Given the description of an element on the screen output the (x, y) to click on. 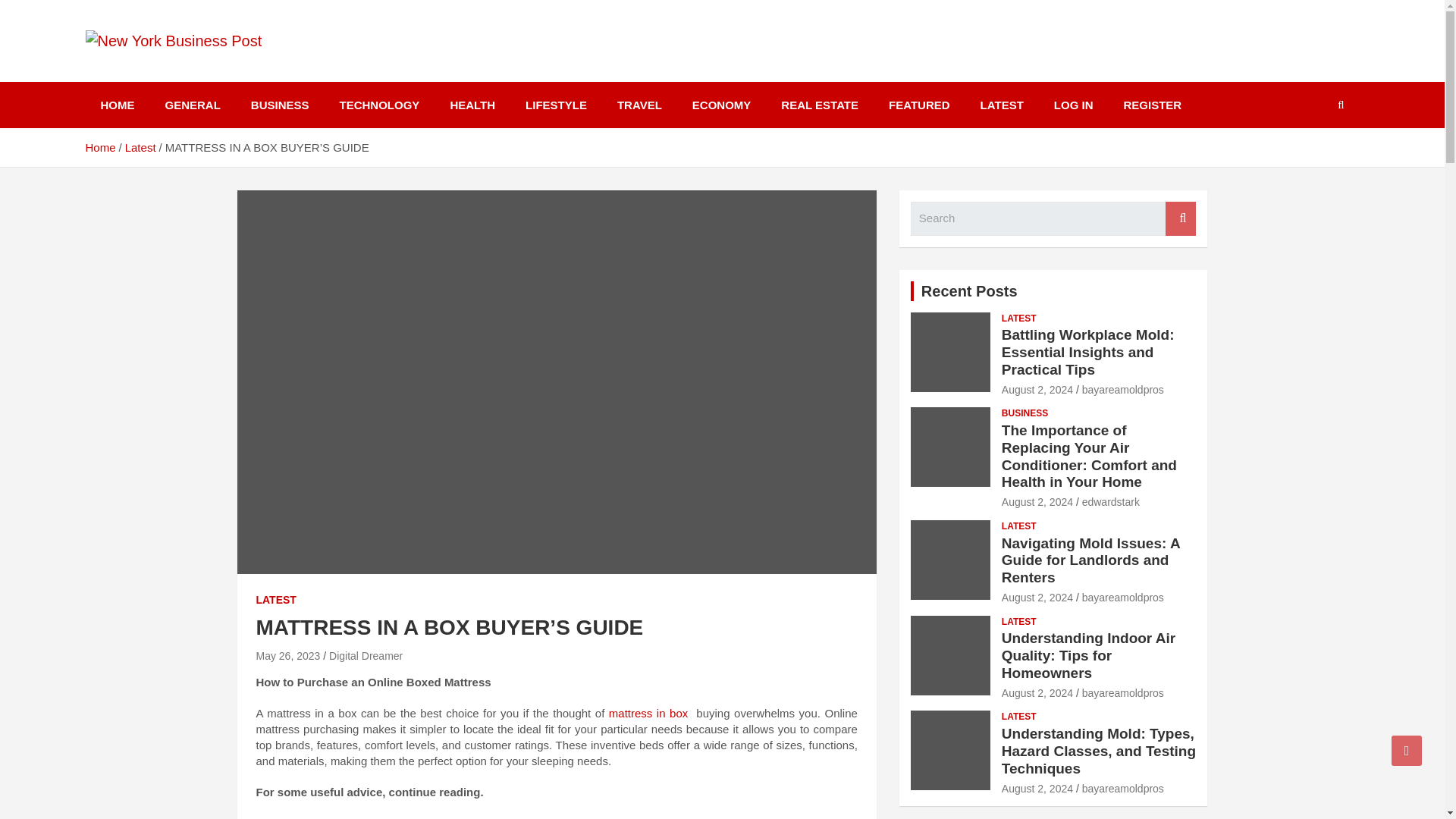
Digital Dreamer (366, 655)
TECHNOLOGY (379, 104)
GENERAL (192, 104)
New York Business Post (261, 70)
FEATURED (919, 104)
Home (99, 146)
ECONOMY (722, 104)
Search (1180, 218)
BUSINESS (279, 104)
